Given the description of an element on the screen output the (x, y) to click on. 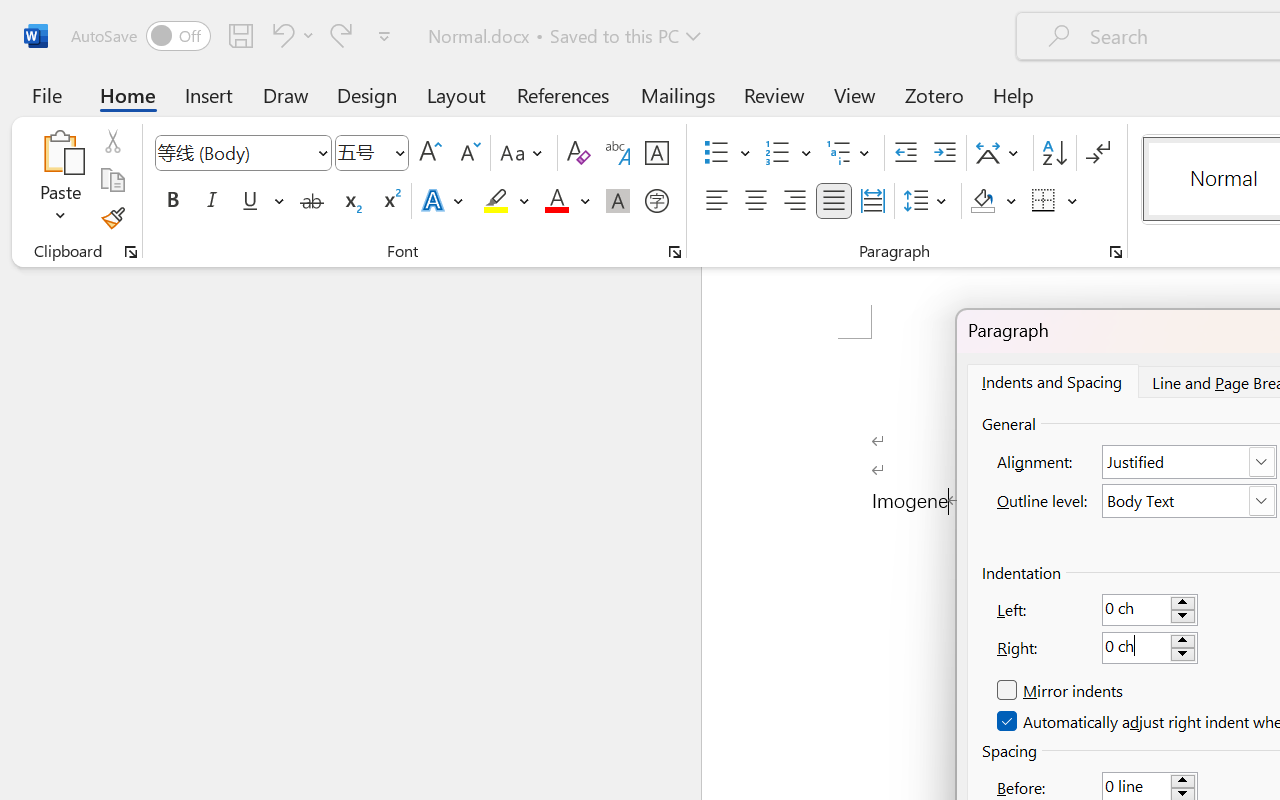
Center (756, 201)
Subscript (350, 201)
Shading RGB(0, 0, 0) (982, 201)
Undo Typing (280, 35)
Cut (112, 141)
Copy (112, 179)
